Given the description of an element on the screen output the (x, y) to click on. 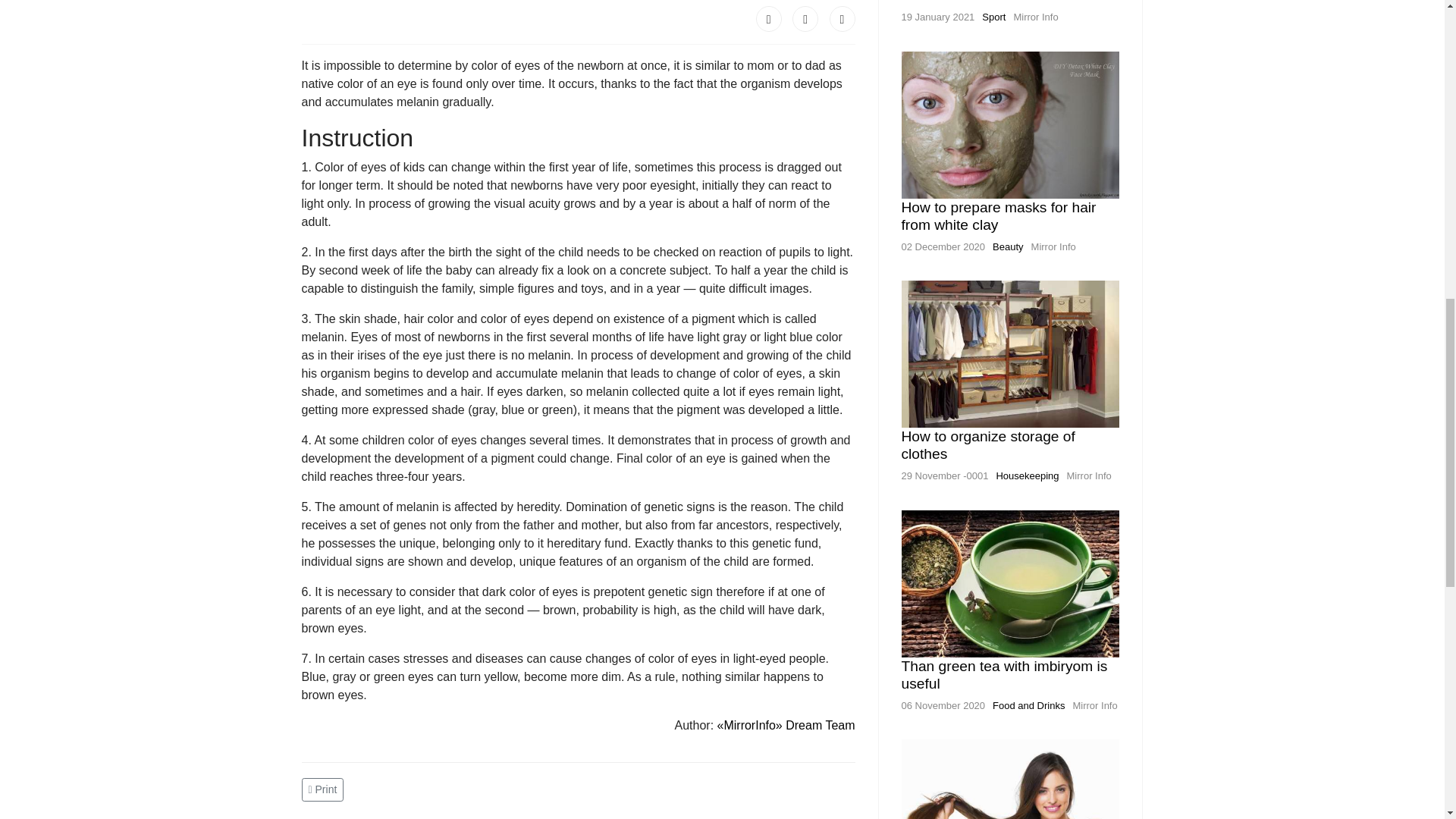
Print (324, 788)
As it is correct to run on big distances (989, 1)
Sport (993, 16)
Housekeeping (1026, 475)
Facebook (768, 18)
How to prepare masks for hair from white clay (998, 215)
Twitter (805, 18)
How to organize storage of clothes (987, 444)
Beauty (1007, 246)
LinkedIn (842, 18)
